Given the description of an element on the screen output the (x, y) to click on. 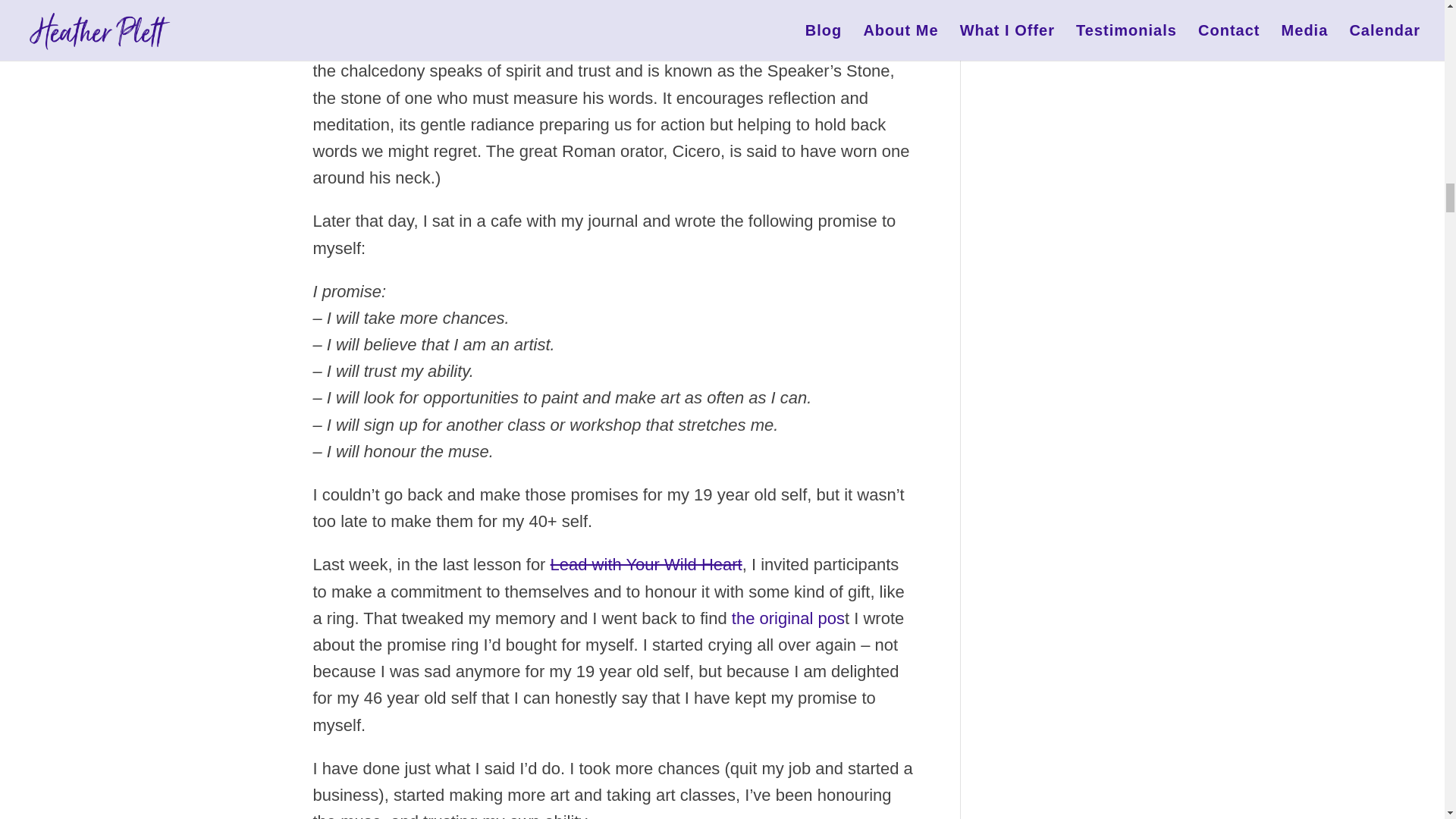
Lead with Your Wild Heart (646, 564)
the original pos (788, 618)
